Given the description of an element on the screen output the (x, y) to click on. 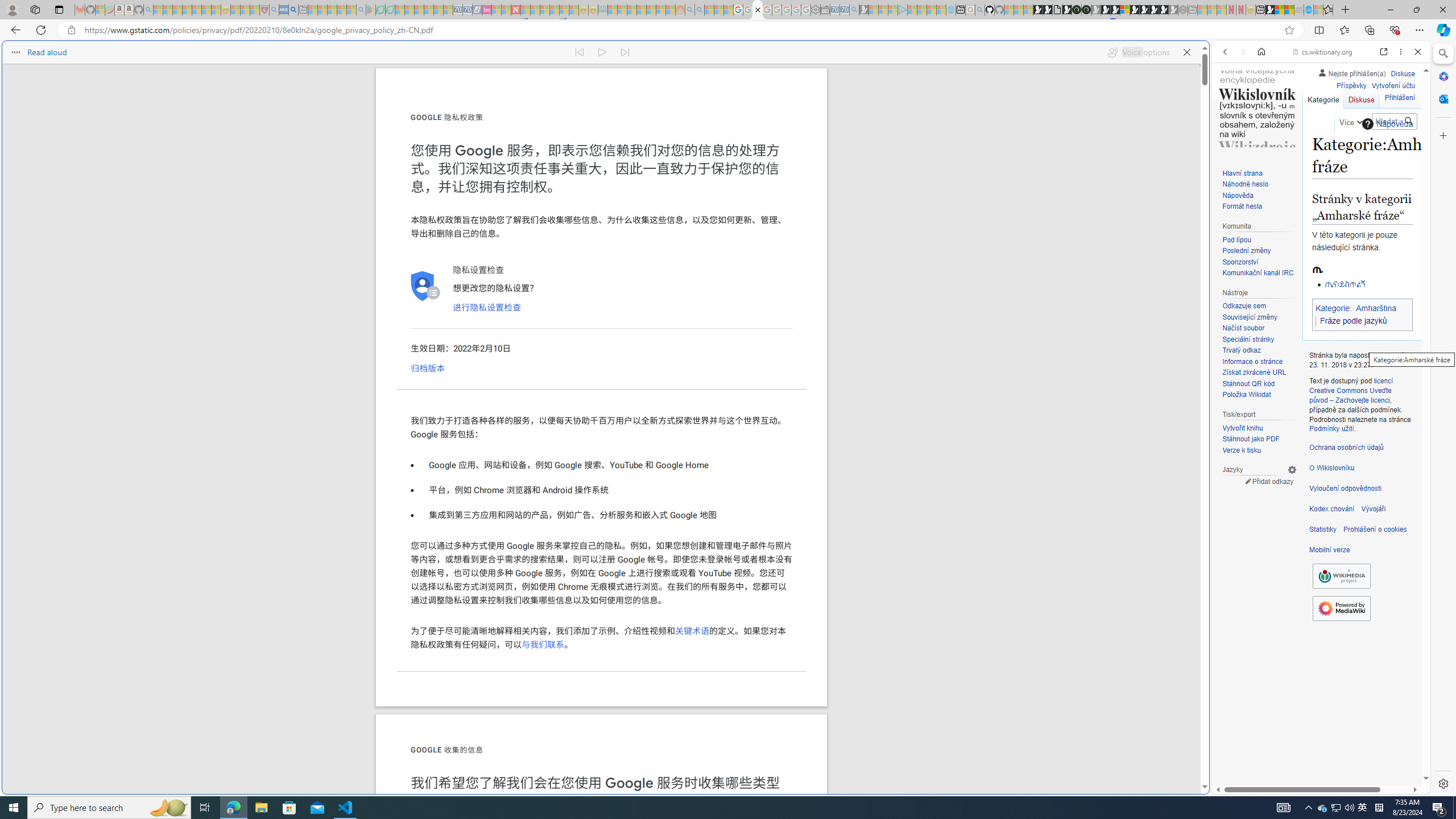
utah sues federal government - Search (922, 389)
Terms of Use Agreement - Sleeping (380, 9)
google_privacy_policy_zh-CN.pdf (757, 9)
Future Focus Report 2024 (1085, 9)
